Given the description of an element on the screen output the (x, y) to click on. 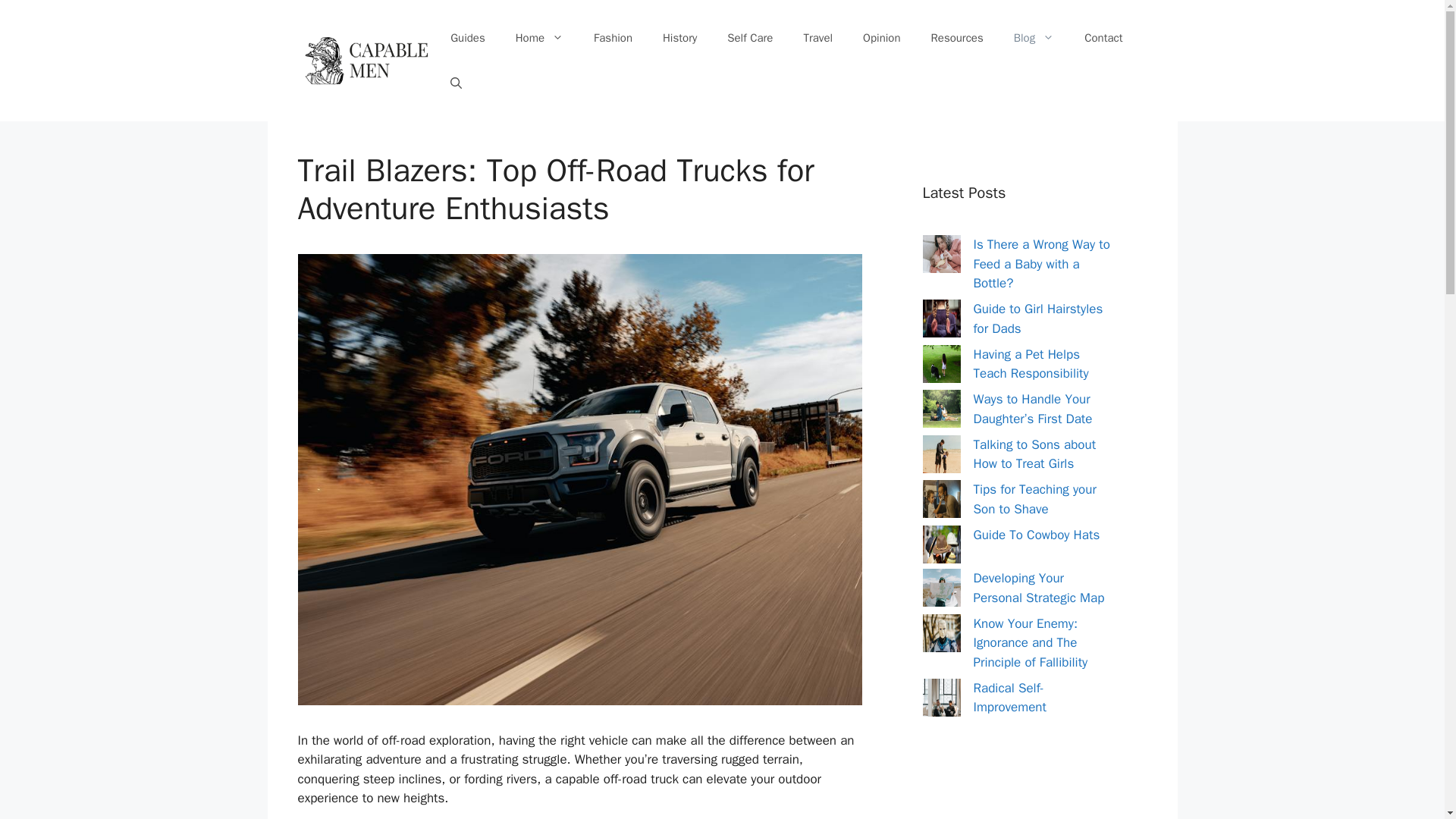
History (679, 37)
Is There a Wrong Way to Feed a Baby with a Bottle? (1041, 263)
Travel (817, 37)
Blog (1033, 37)
Resources (956, 37)
Fashion (612, 37)
Self Care (749, 37)
Contact (1102, 37)
Having a Pet Helps Teach Responsibility (1031, 363)
Opinion (881, 37)
